Given the description of an element on the screen output the (x, y) to click on. 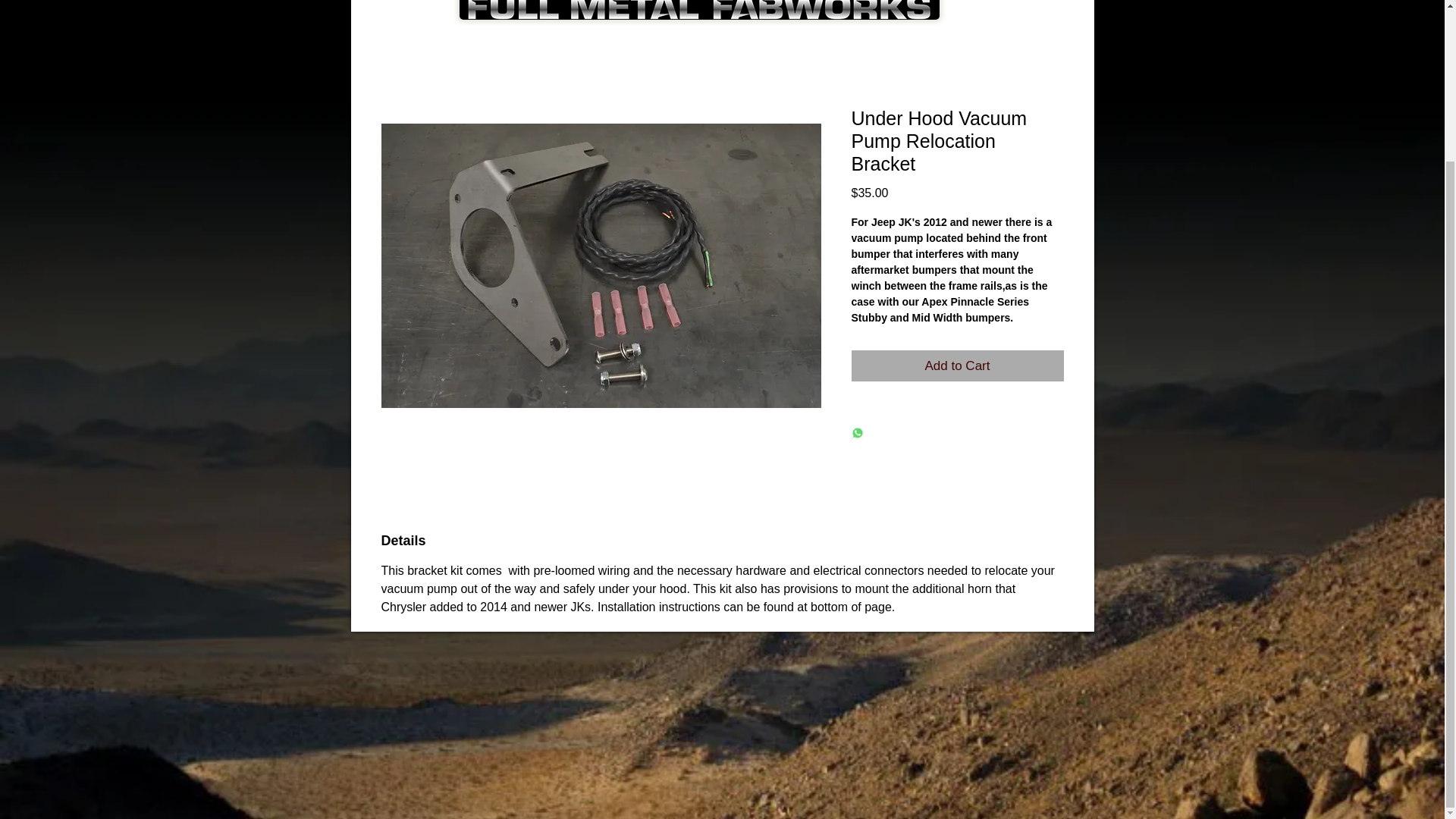
Add to Cart (956, 366)
